Given the description of an element on the screen output the (x, y) to click on. 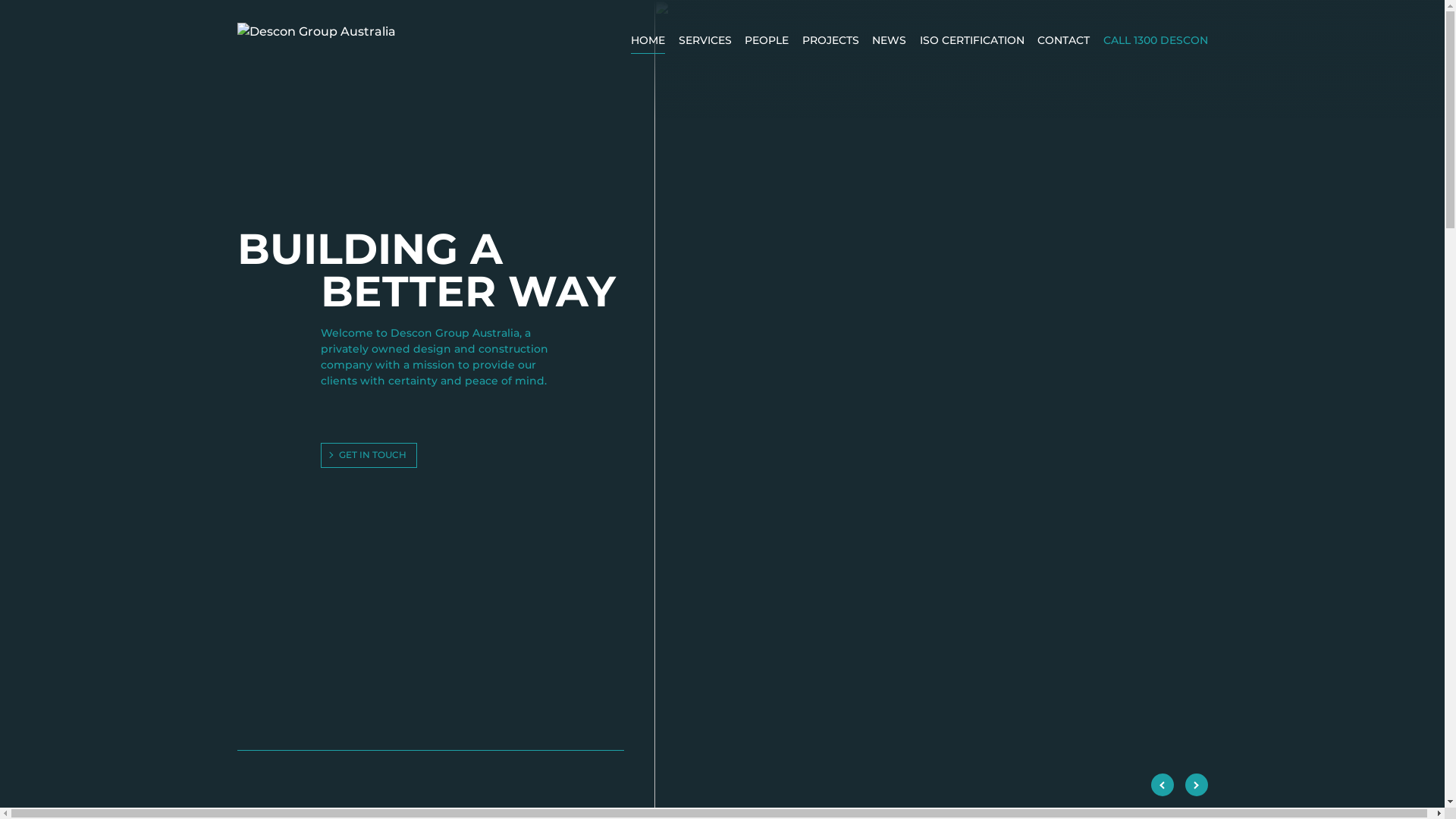
PEOPLE Element type: text (766, 42)
SERVICES Element type: text (704, 42)
ISO CERTIFICATION Element type: text (971, 42)
PROJECTS Element type: text (830, 42)
CONTACT Element type: text (1063, 42)
GET IN TOUCH Element type: text (368, 454)
NEWS Element type: text (889, 42)
CALL 1300 DESCON Element type: text (1154, 42)
Skip to content Element type: text (0, 0)
HOME Element type: text (647, 42)
